Given the description of an element on the screen output the (x, y) to click on. 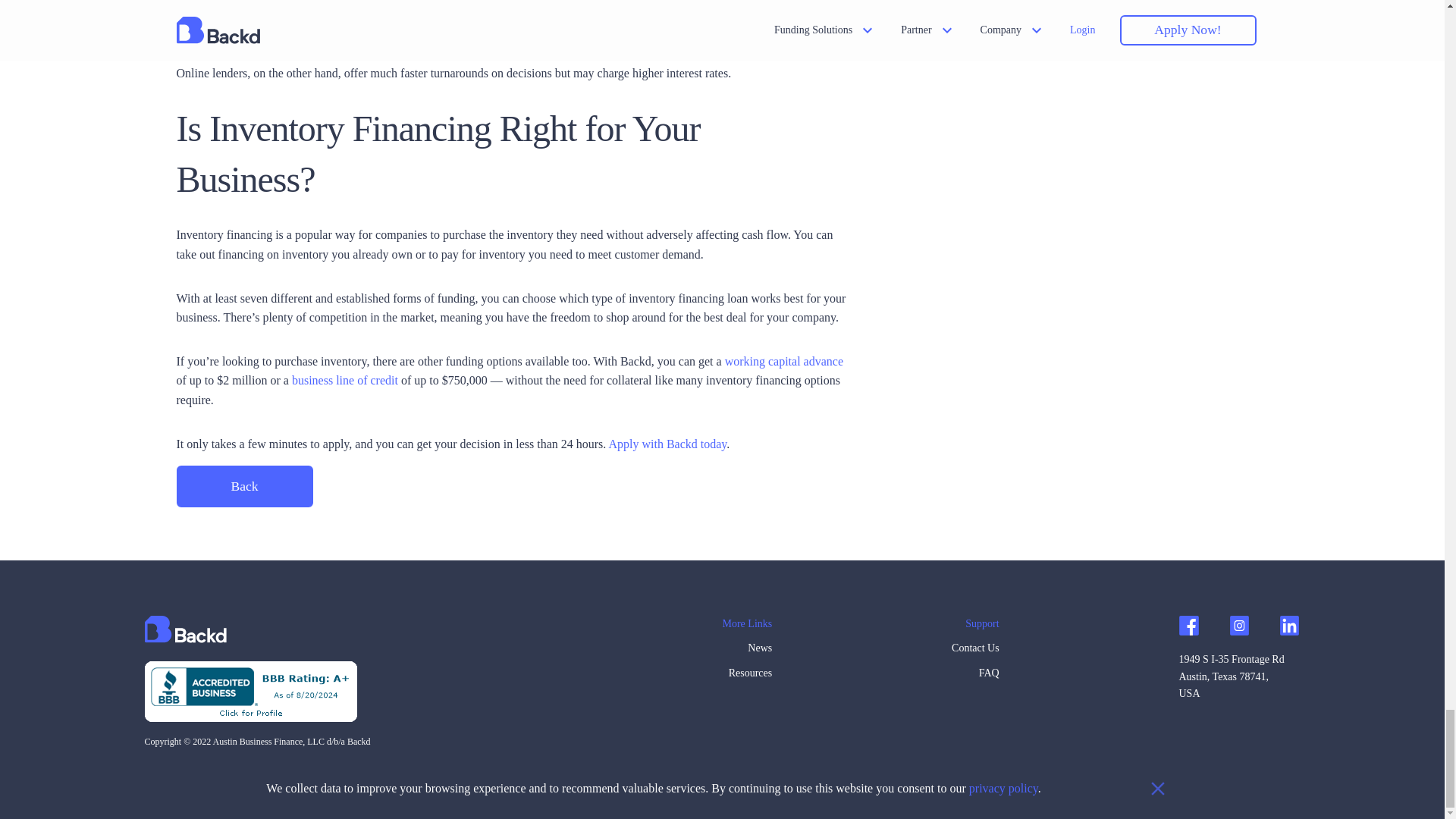
Contact Us (975, 651)
Back (244, 486)
business line of credit (344, 379)
Privacy Policy (244, 765)
FAQ (975, 677)
Terms of Service (179, 765)
Resources (746, 677)
Sitemap (294, 765)
News (746, 651)
working capital advance (784, 360)
